Given the description of an element on the screen output the (x, y) to click on. 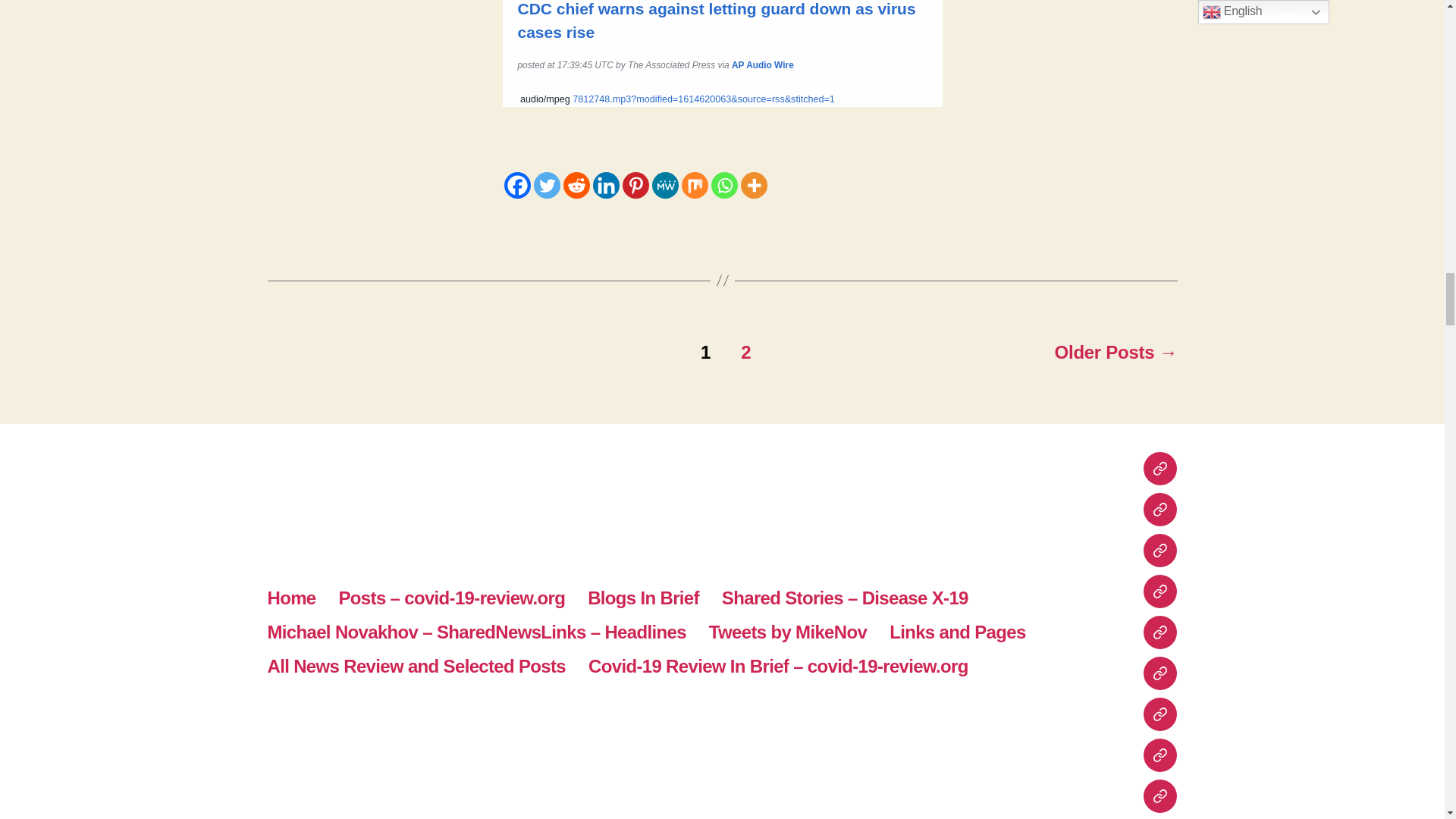
Facebook (516, 185)
Reddit (575, 185)
Mix (694, 185)
Whatsapp (724, 185)
Linkedin (606, 185)
MeWe (665, 185)
Twitter (547, 185)
Pinterest (634, 185)
